Given the description of an element on the screen output the (x, y) to click on. 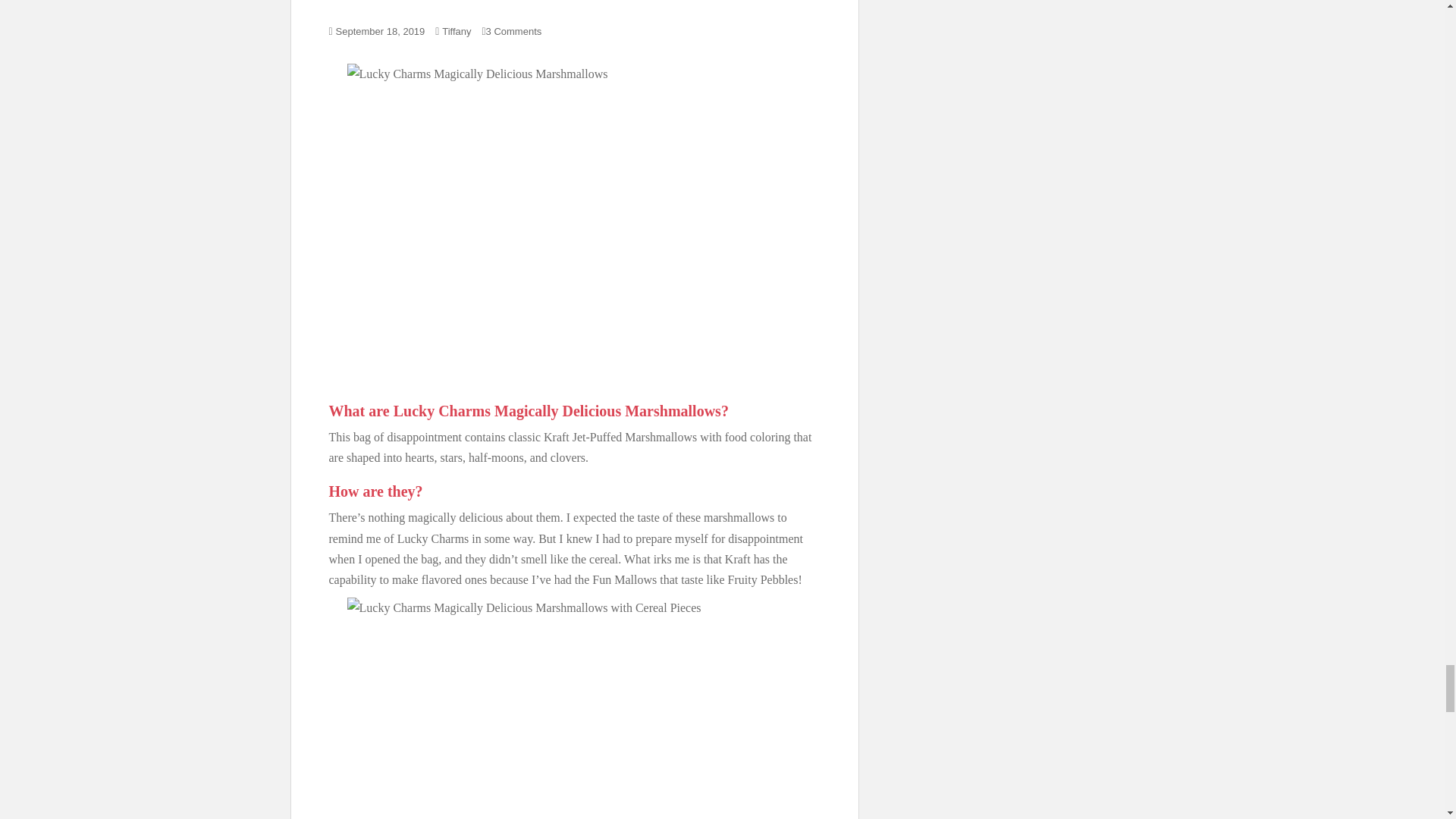
September 18, 2019 (380, 30)
Tiffany (456, 30)
3 Comments (513, 30)
